Given the description of an element on the screen output the (x, y) to click on. 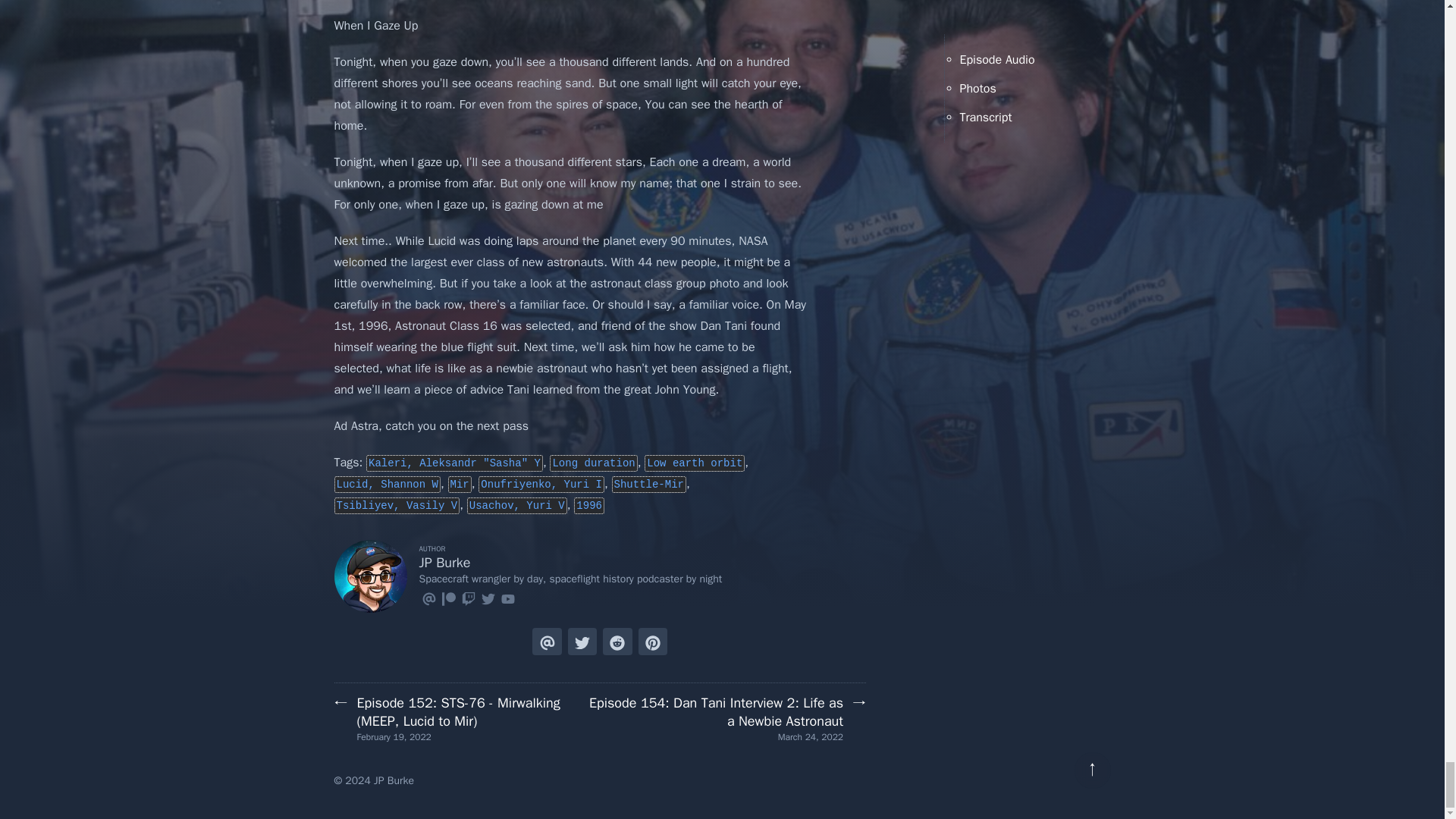
Long duration (593, 463)
Submit to Reddit (616, 641)
Pin on Pinterest (652, 641)
Kaleri, Aleksandr "Sasha" Y (454, 463)
Send via email (546, 641)
Low earth orbit (694, 463)
Tweet on Twitter (581, 641)
Lucid, Shannon W (386, 484)
